Given the description of an element on the screen output the (x, y) to click on. 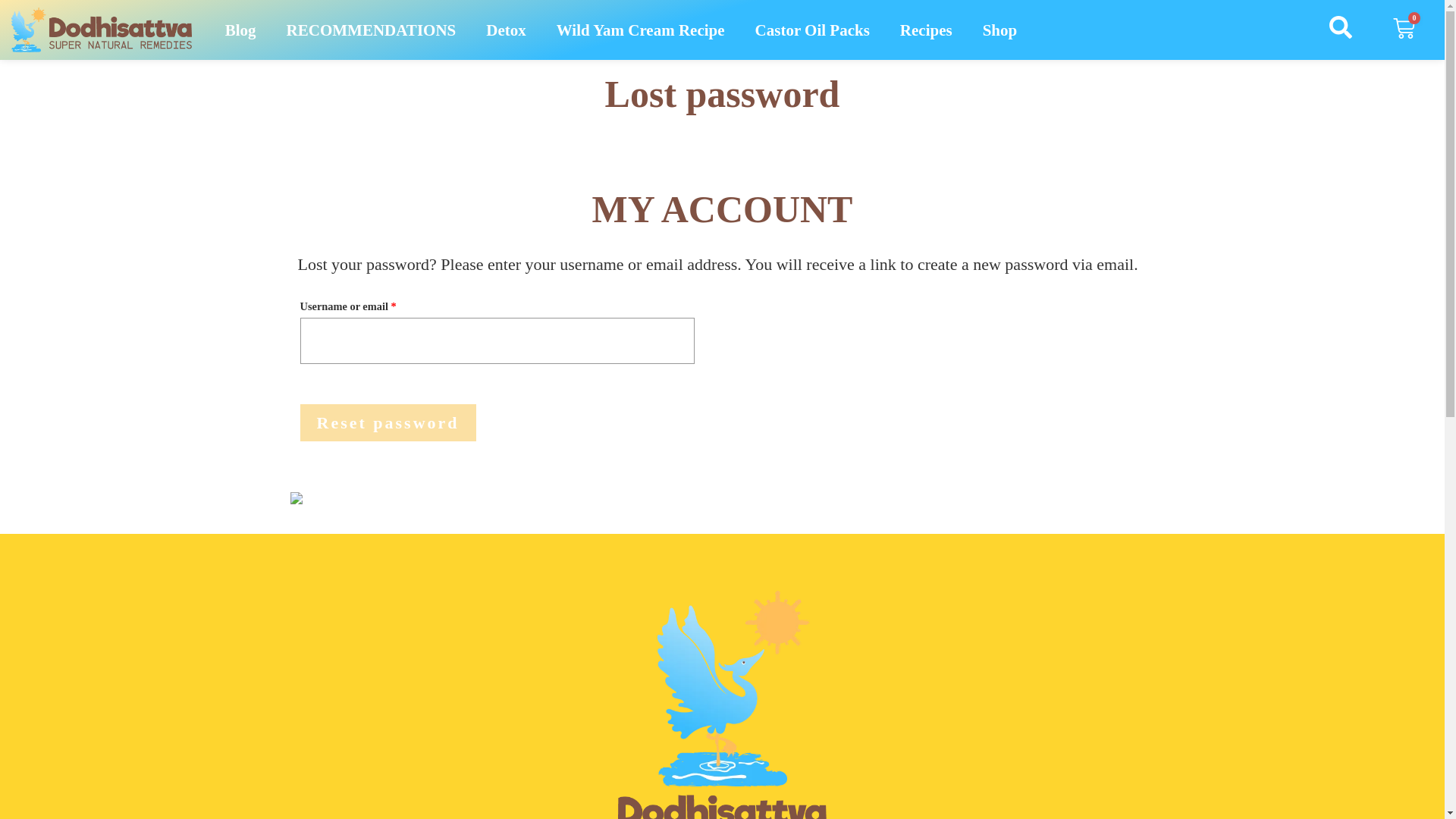
Shop (1000, 30)
RECOMMENDATIONS (370, 30)
Castor Oil Packs (812, 30)
Blog (239, 30)
Wild Yam Cream Recipe (640, 30)
Recipes (926, 30)
Detox (505, 30)
